Given the description of an element on the screen output the (x, y) to click on. 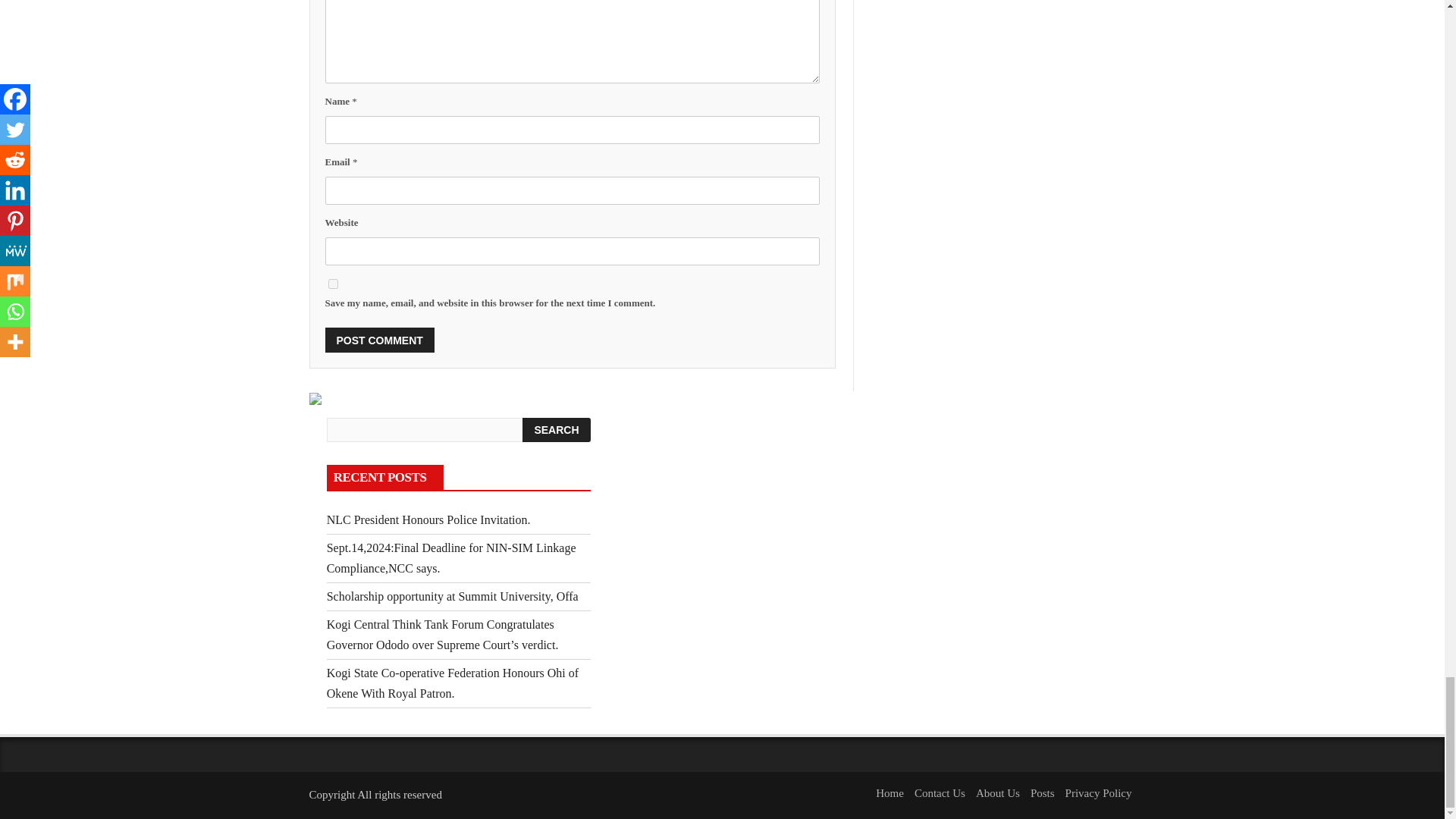
yes (332, 284)
Search (555, 429)
Post Comment (378, 339)
